Given the description of an element on the screen output the (x, y) to click on. 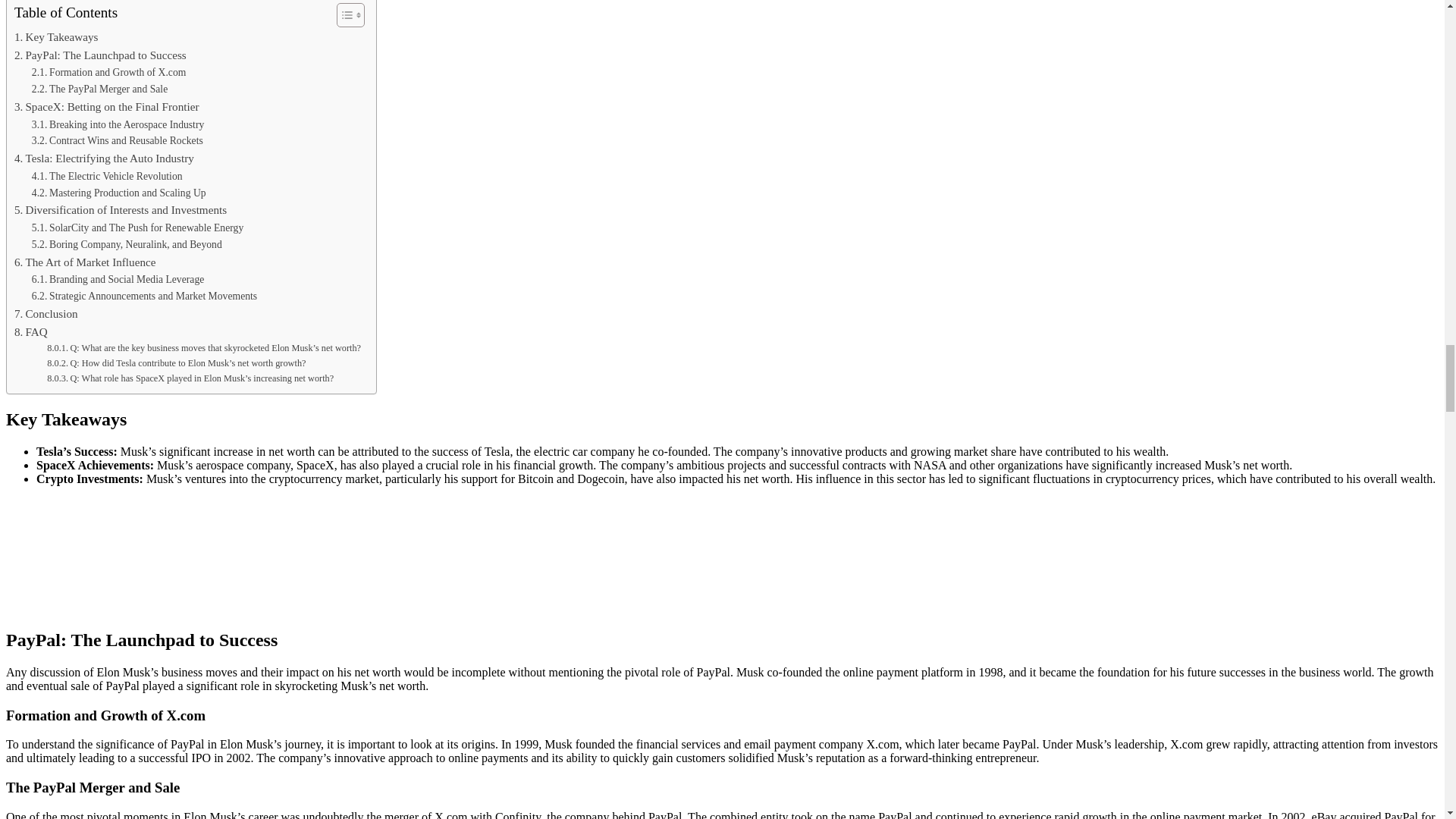
Diversification of Interests and Investments (120, 209)
The Art of Market Influence (84, 262)
Formation and Growth of X.com (109, 72)
Strategic Announcements and Market Movements (144, 296)
Boring Company, Neuralink, and Beyond (127, 244)
SolarCity and The Push for Renewable Energy (137, 228)
Key Takeaways (56, 36)
SpaceX: Betting on the Final Frontier (106, 106)
PayPal: The Launchpad to Success (100, 54)
Conclusion (46, 313)
The PayPal Merger and Sale (99, 89)
Branding and Social Media Leverage (118, 279)
Breaking into the Aerospace Industry (118, 125)
FAQ (31, 331)
Contract Wins and Reusable Rockets (117, 140)
